Given the description of an element on the screen output the (x, y) to click on. 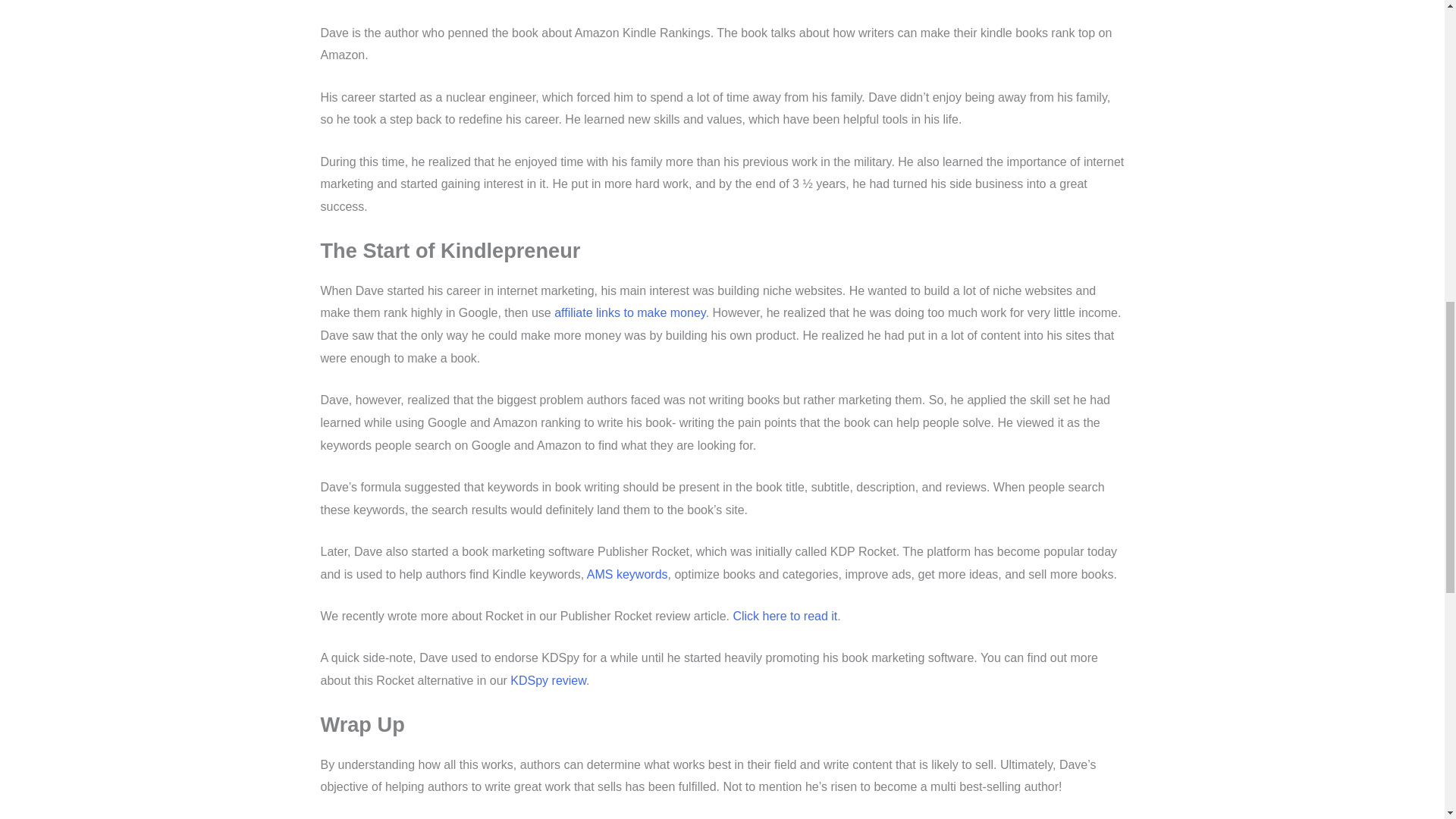
KDSpy review (548, 680)
AMS keywords (627, 574)
Click here to read it (784, 615)
affiliate links to make money (630, 312)
